Given the description of an element on the screen output the (x, y) to click on. 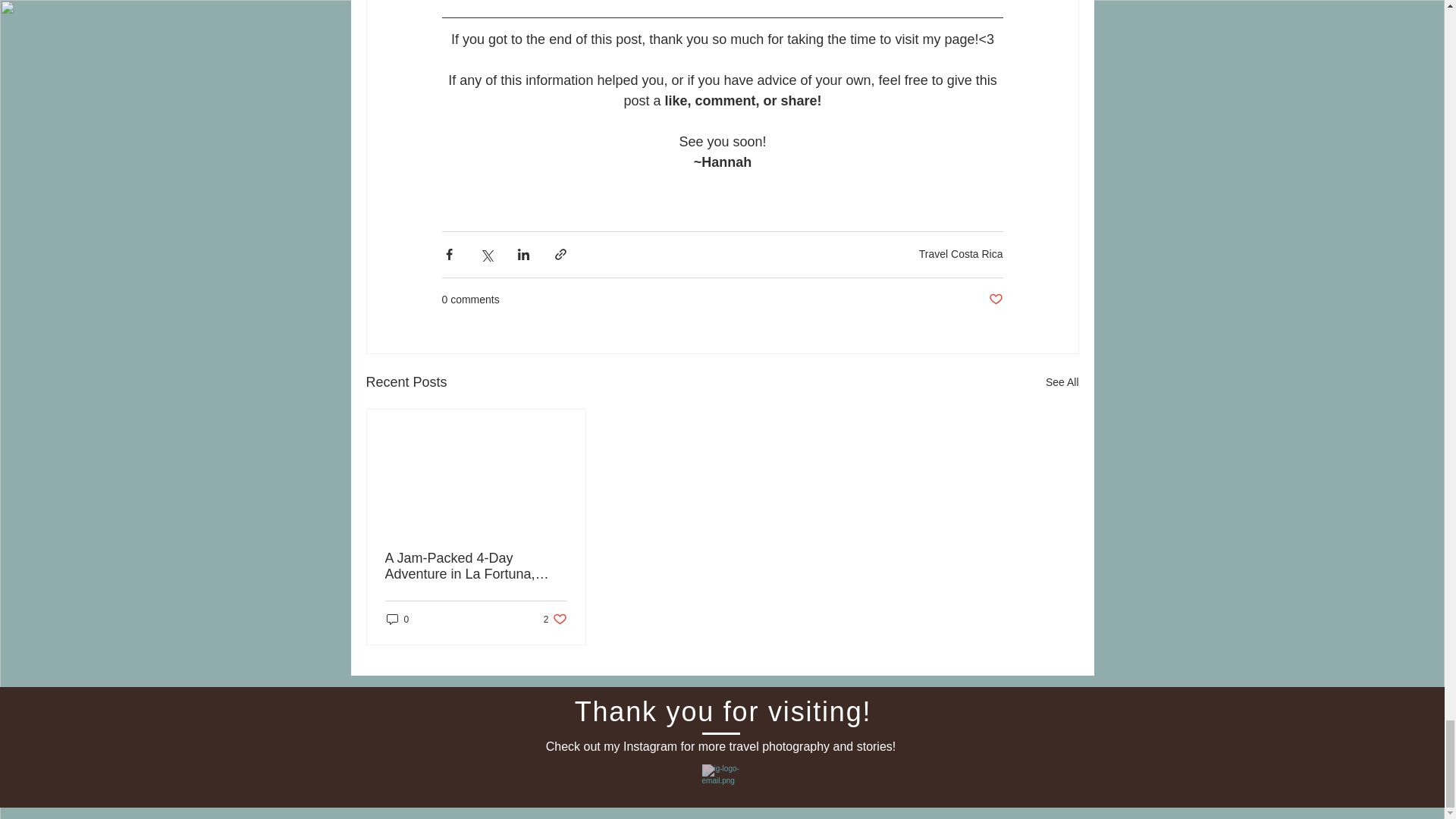
Travel Costa Rica (960, 254)
Post not marked as liked (995, 299)
